Given the description of an element on the screen output the (x, y) to click on. 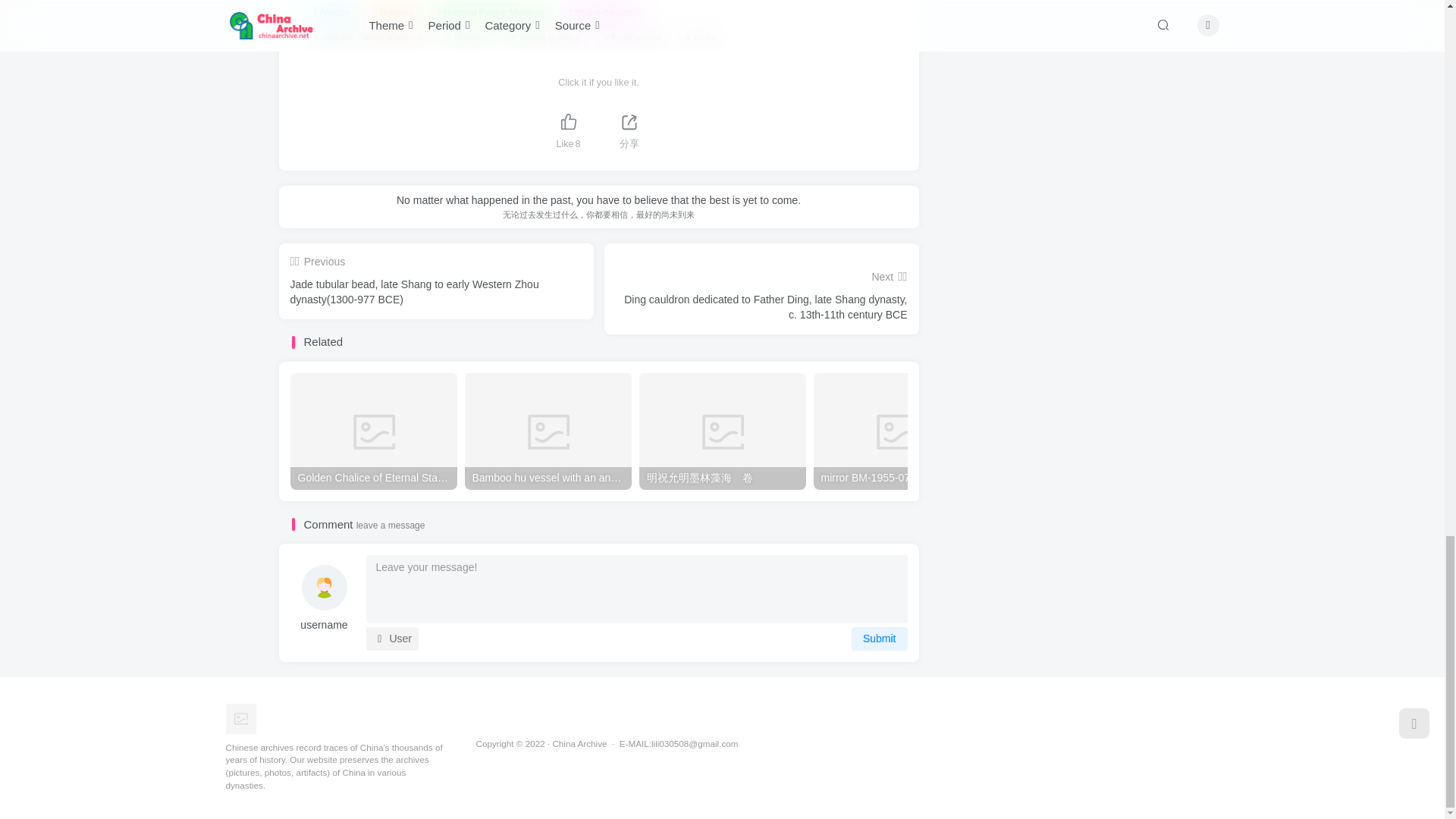
View more articles on this label (466, 37)
China Archive (240, 717)
View more articles on this label (366, 37)
View more articles on this label (700, 37)
View more articles on this label (631, 37)
View more articles on this label (545, 37)
